Given the description of an element on the screen output the (x, y) to click on. 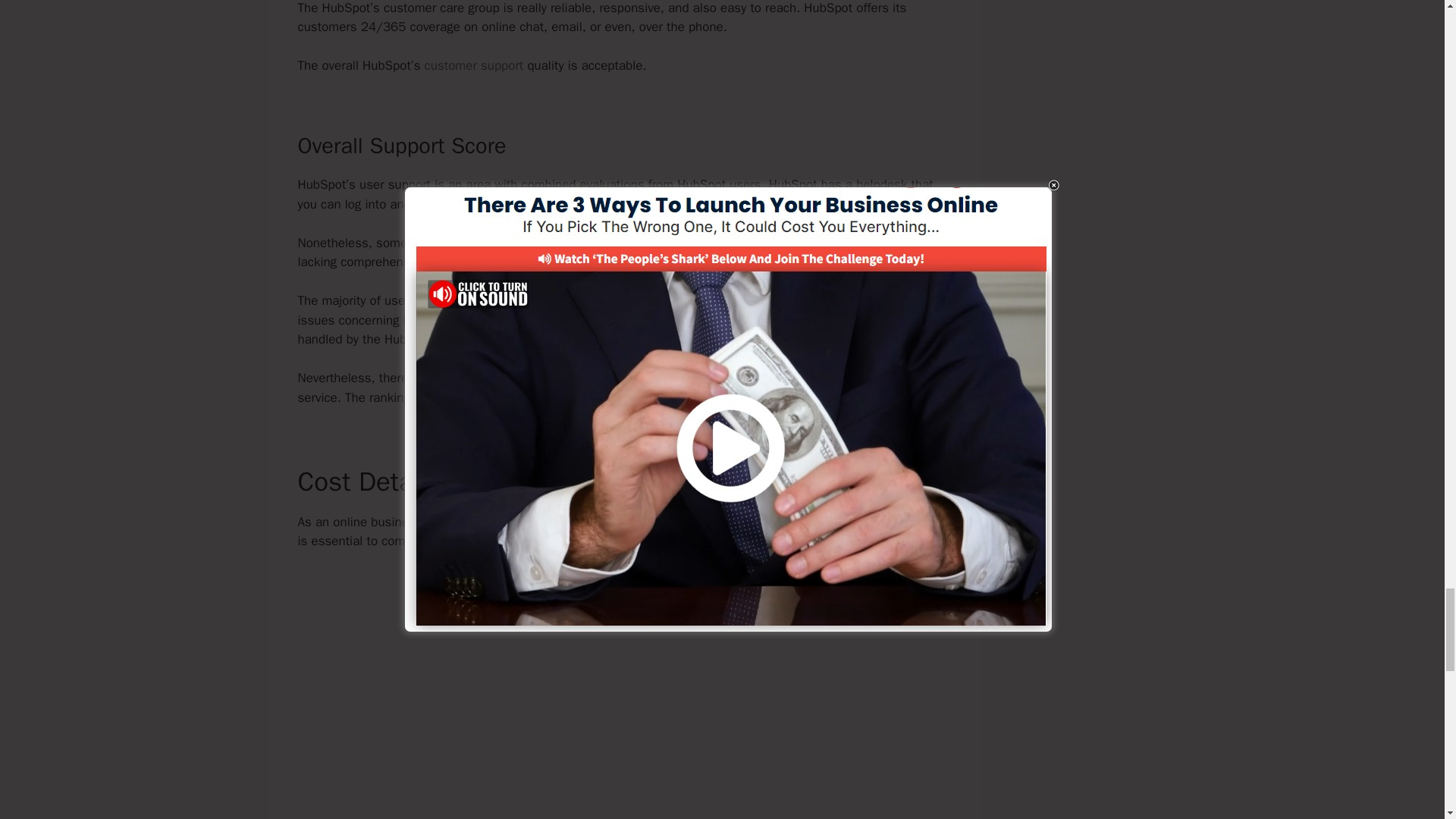
support (536, 397)
customer support (474, 65)
